Given the description of an element on the screen output the (x, y) to click on. 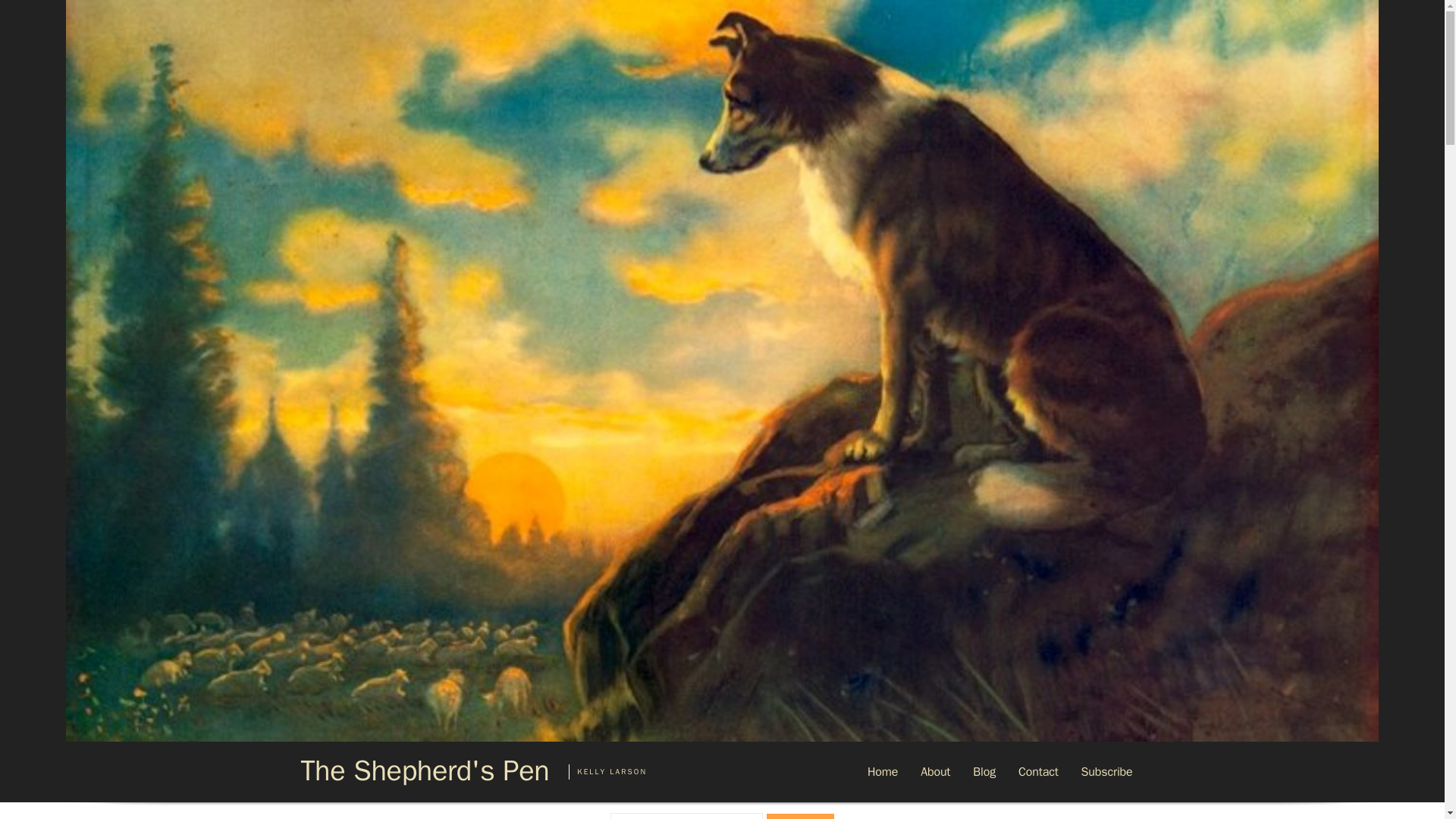
The Shepherd's Pen (423, 770)
Search (800, 816)
Home (882, 771)
Search (800, 816)
About (934, 771)
Search (800, 816)
Contact (1038, 771)
Subscribe (1107, 771)
Blog (983, 771)
